Given the description of an element on the screen output the (x, y) to click on. 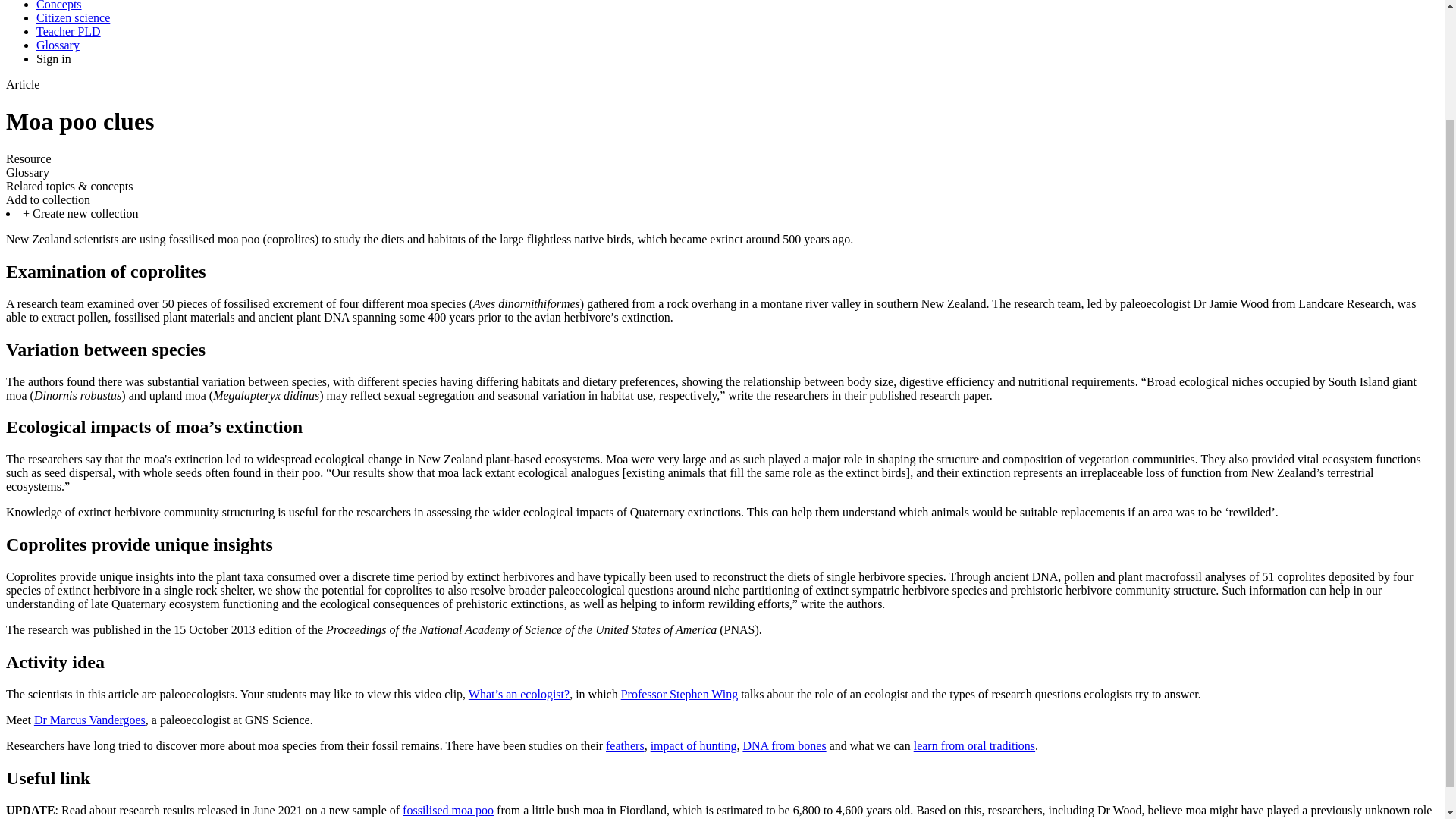
Concepts (58, 5)
feathers (625, 745)
Professor Stephen Wing (679, 694)
Dr Marcus Vandergoes (89, 719)
DNA from bones (783, 745)
fossilised moa poo (448, 809)
Sign in (53, 58)
Citizen science (73, 17)
Glossary (58, 44)
